Given the description of an element on the screen output the (x, y) to click on. 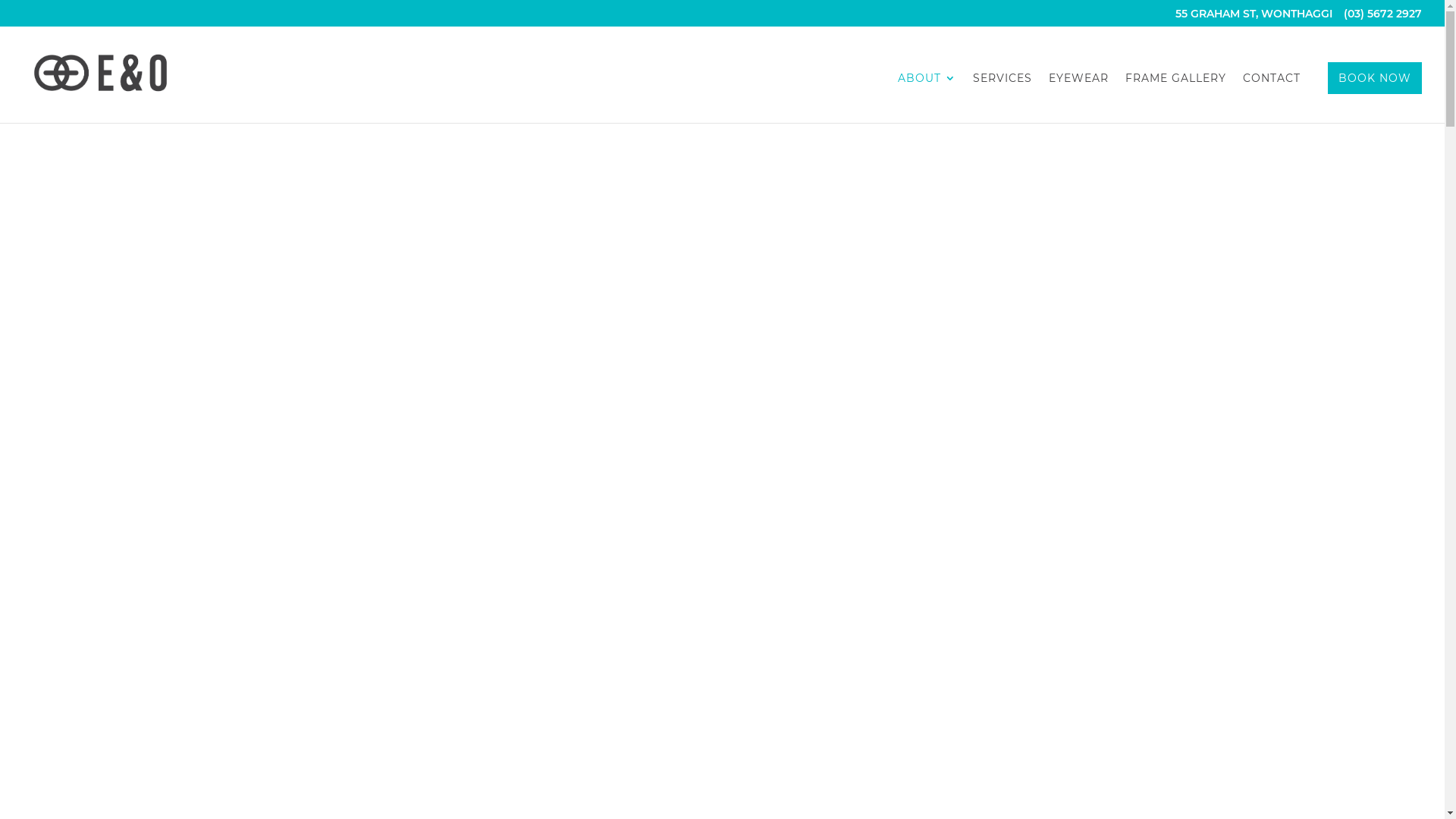
BOOK NOW Element type: text (1374, 78)
CONTACT Element type: text (1271, 97)
FRAME GALLERY Element type: text (1175, 97)
EYEWEAR Element type: text (1078, 97)
55 GRAHAM ST, WONTHAGGI Element type: text (1253, 16)
(03) 5672 2927 Element type: text (1382, 16)
ABOUT Element type: text (926, 97)
SERVICES Element type: text (1002, 97)
